Given the description of an element on the screen output the (x, y) to click on. 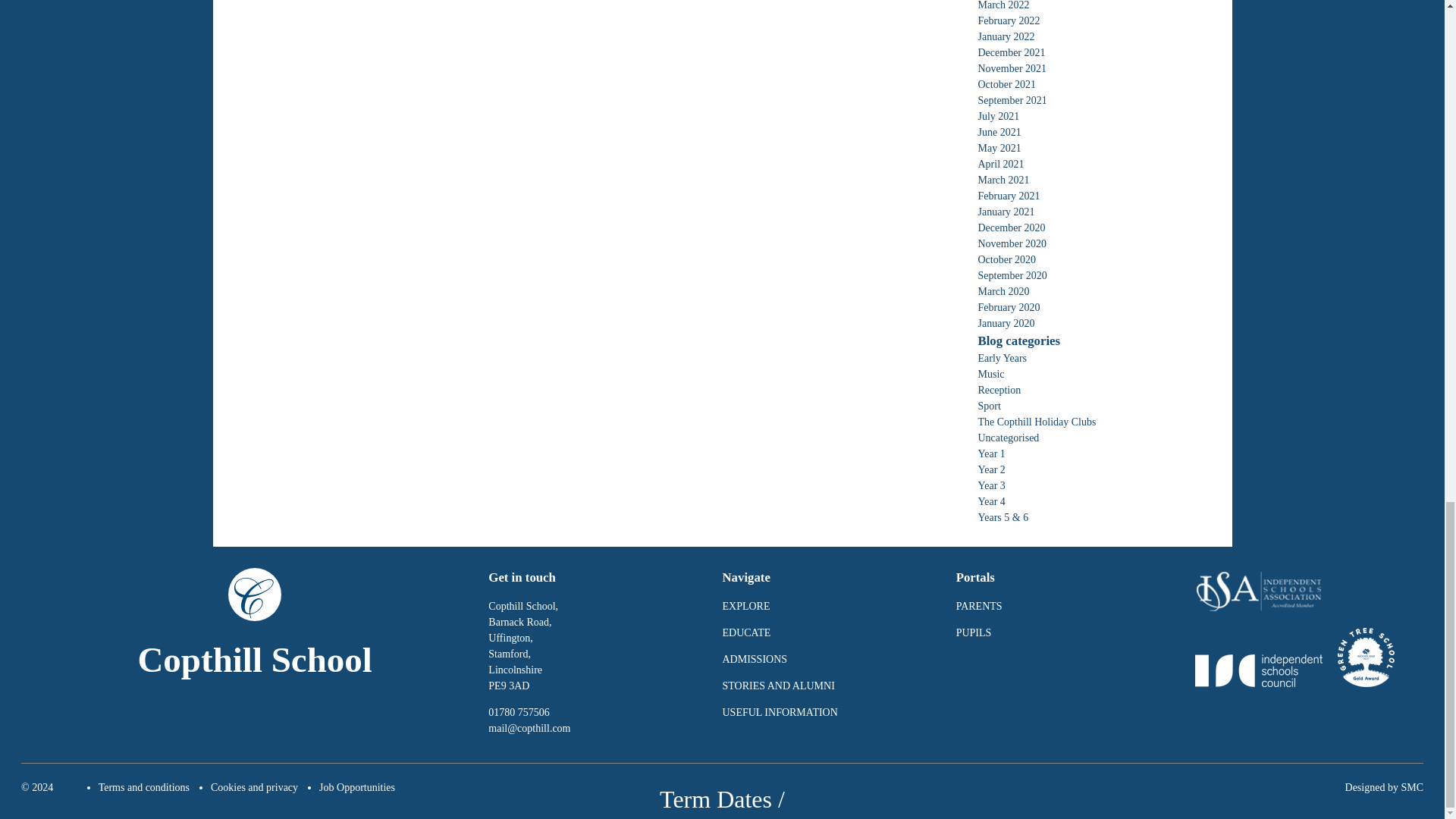
Copthill School Website designed by Steve Moody Creative (1411, 787)
Get in touch with us at Copthill School (528, 727)
